Given the description of an element on the screen output the (x, y) to click on. 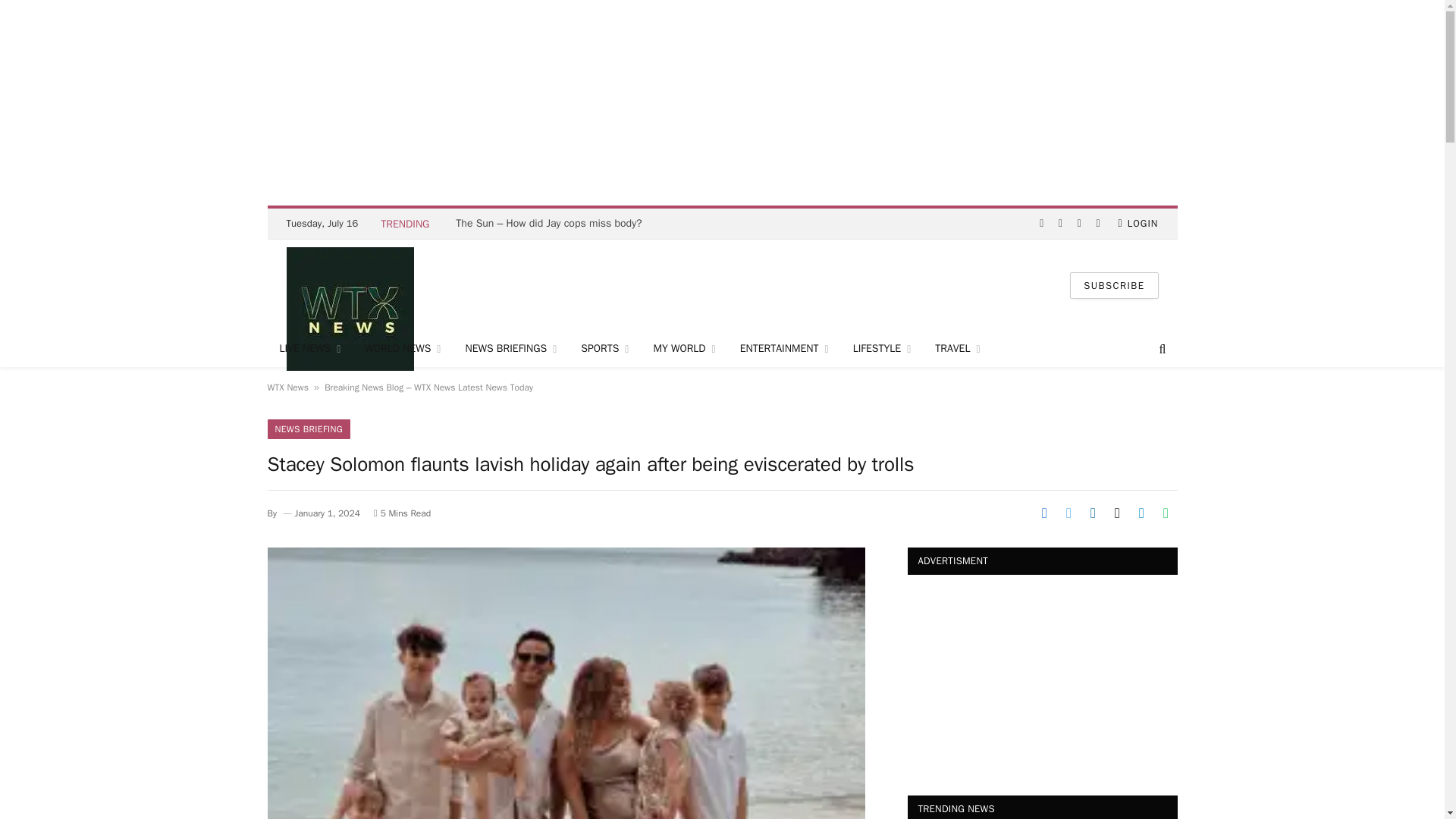
LIVE NEWS (309, 348)
WORLD NEWS (402, 348)
Coverage of Live news and events in Realtime (309, 348)
Facebook (1040, 223)
SPORTS (604, 348)
LOGIN (1138, 223)
YouTube (1097, 223)
WTX News (349, 284)
NEWS BRIEFINGS (510, 348)
Search (1161, 349)
3rd party ad content (721, 284)
News of the world (402, 348)
Share on Facebook (1043, 512)
